Given the description of an element on the screen output the (x, y) to click on. 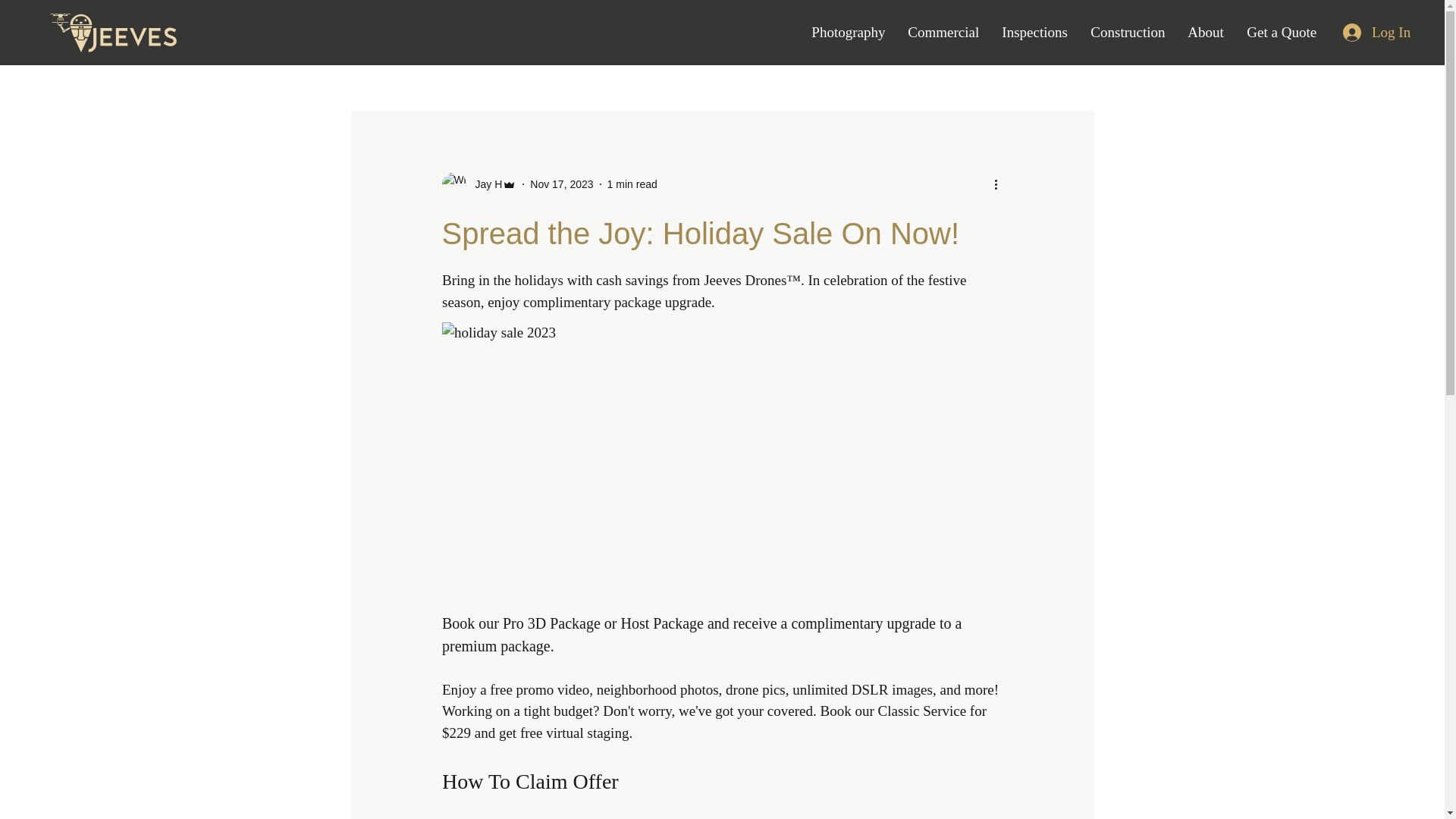
1 min read (632, 184)
Nov 17, 2023 (560, 184)
Jay H (483, 184)
Jay H (478, 183)
Commercial (943, 32)
Get a Quote (1280, 32)
Log In (1376, 32)
